Given the description of an element on the screen output the (x, y) to click on. 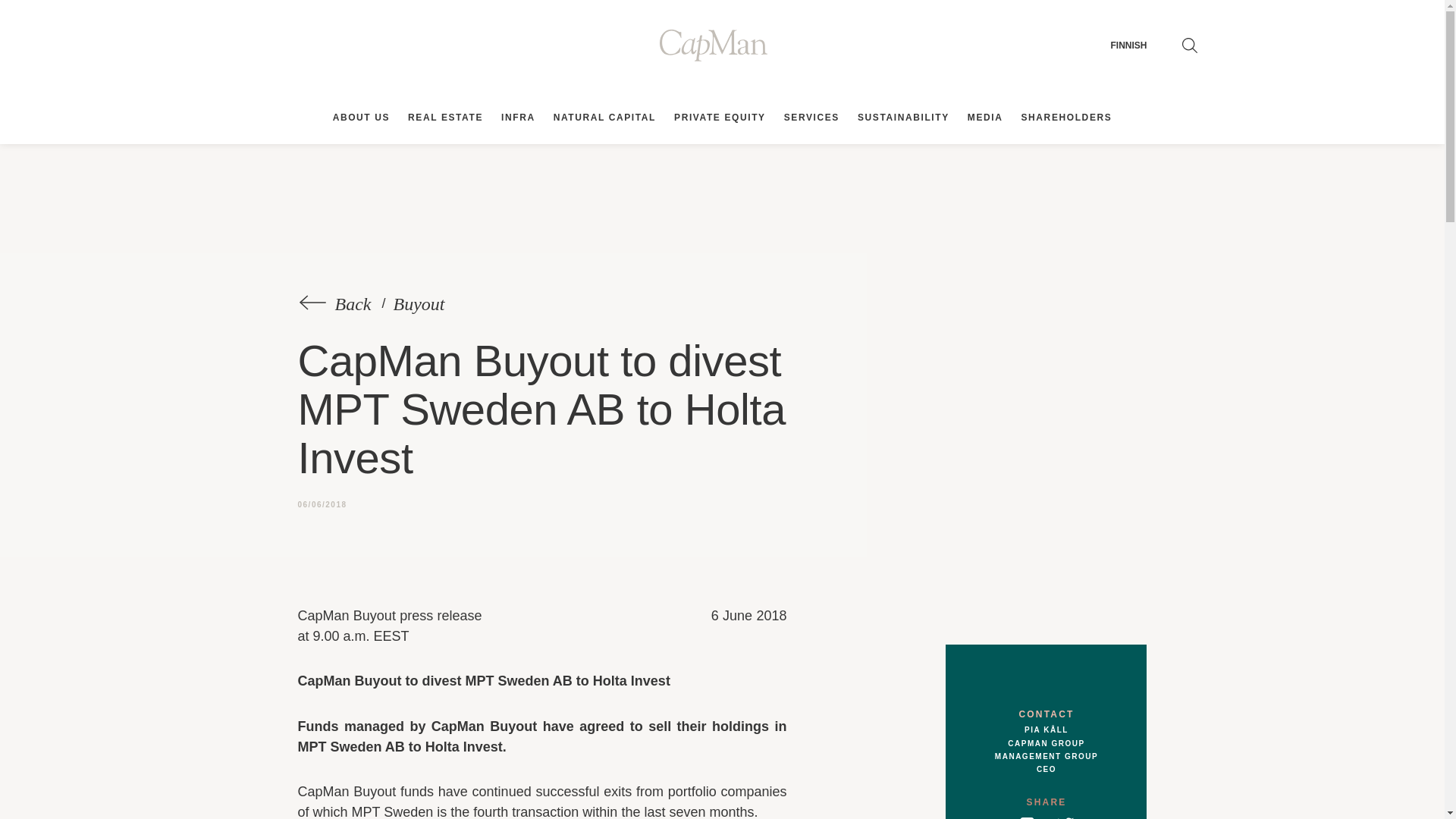
SUSTAINABILITY (903, 117)
SERVICES (811, 117)
Back (337, 303)
REAL ESTATE (445, 117)
Buyout (416, 303)
SHAREHOLDERS (1066, 117)
CapMan (721, 45)
FINNISH (1128, 45)
ABOUT US (361, 117)
NATURAL CAPITAL (604, 117)
PRIVATE EQUITY (719, 117)
